Given the description of an element on the screen output the (x, y) to click on. 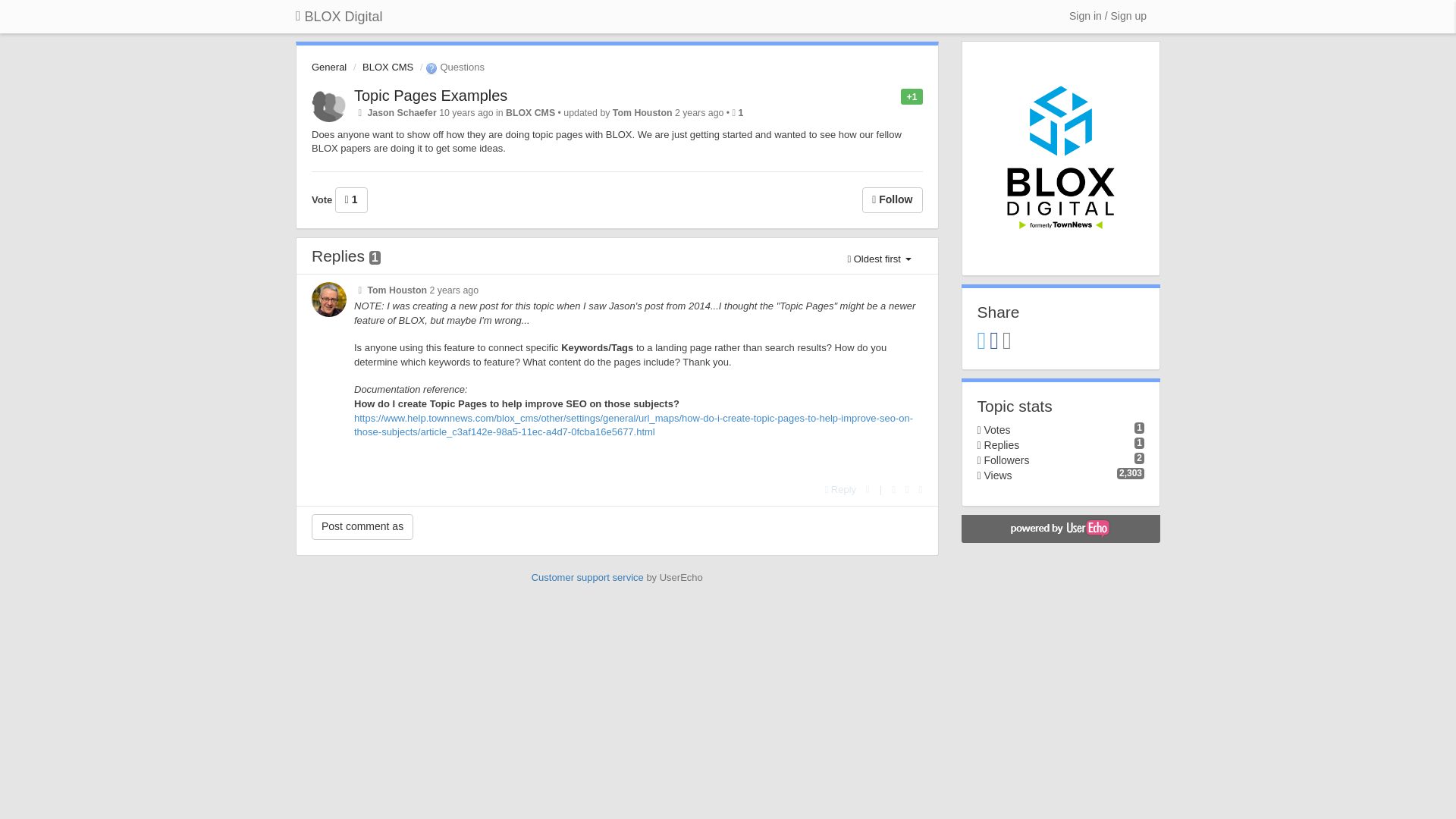
Oldest first (878, 259)
Questions (453, 66)
Topic Pages Examples (429, 95)
Flag the message (867, 489)
Post comment as (362, 526)
Reply (841, 489)
Tom Houston (642, 112)
Follow (891, 199)
BLOX Digital (338, 16)
Jason Schaefer (400, 112)
Post comment as (362, 526)
1 (351, 199)
2 years ago (454, 290)
Customer support service (587, 577)
1 (741, 112)
